Given the description of an element on the screen output the (x, y) to click on. 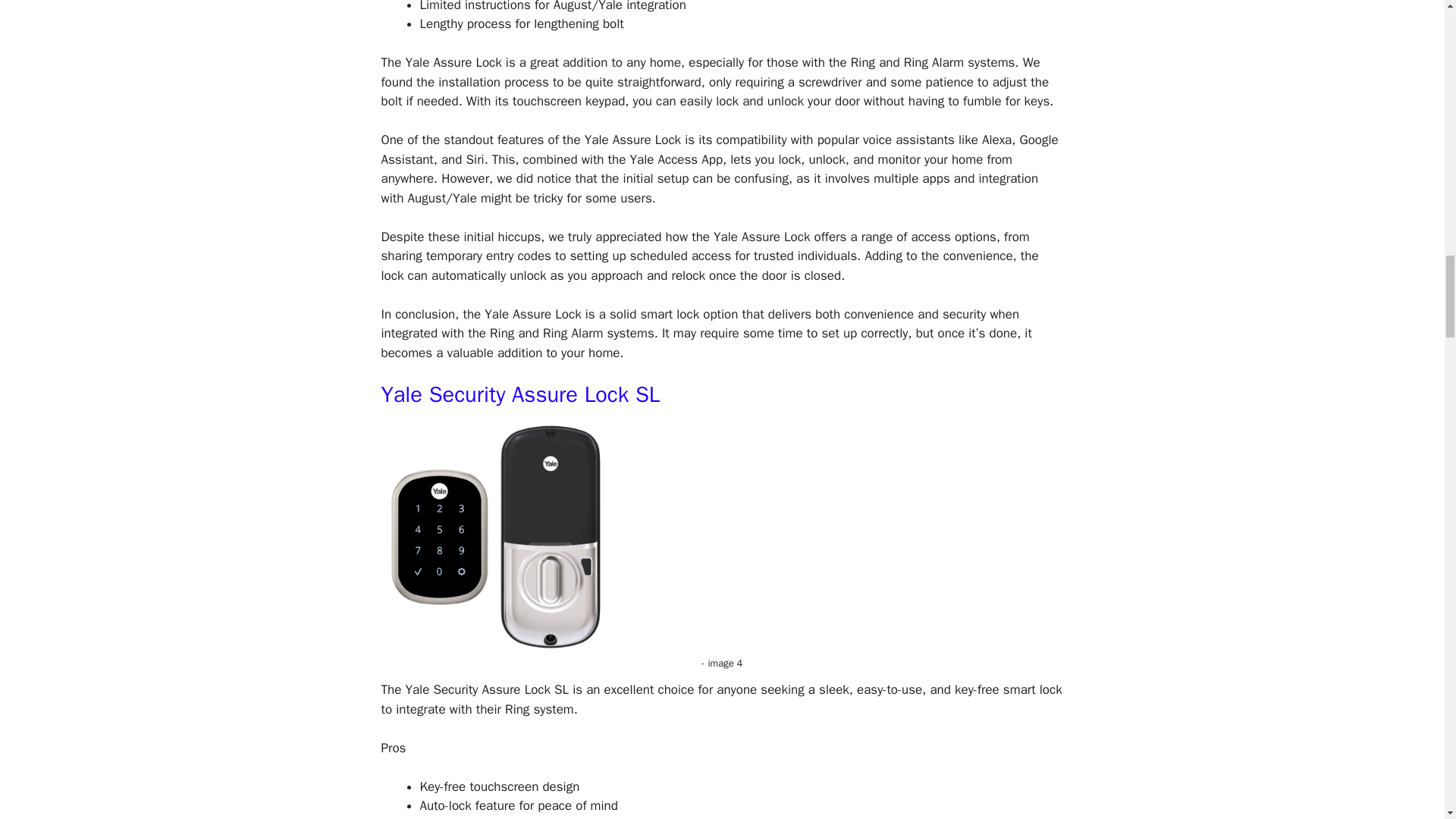
Smart Locks That Work With Ring July 26, 2024 (494, 536)
